Given the description of an element on the screen output the (x, y) to click on. 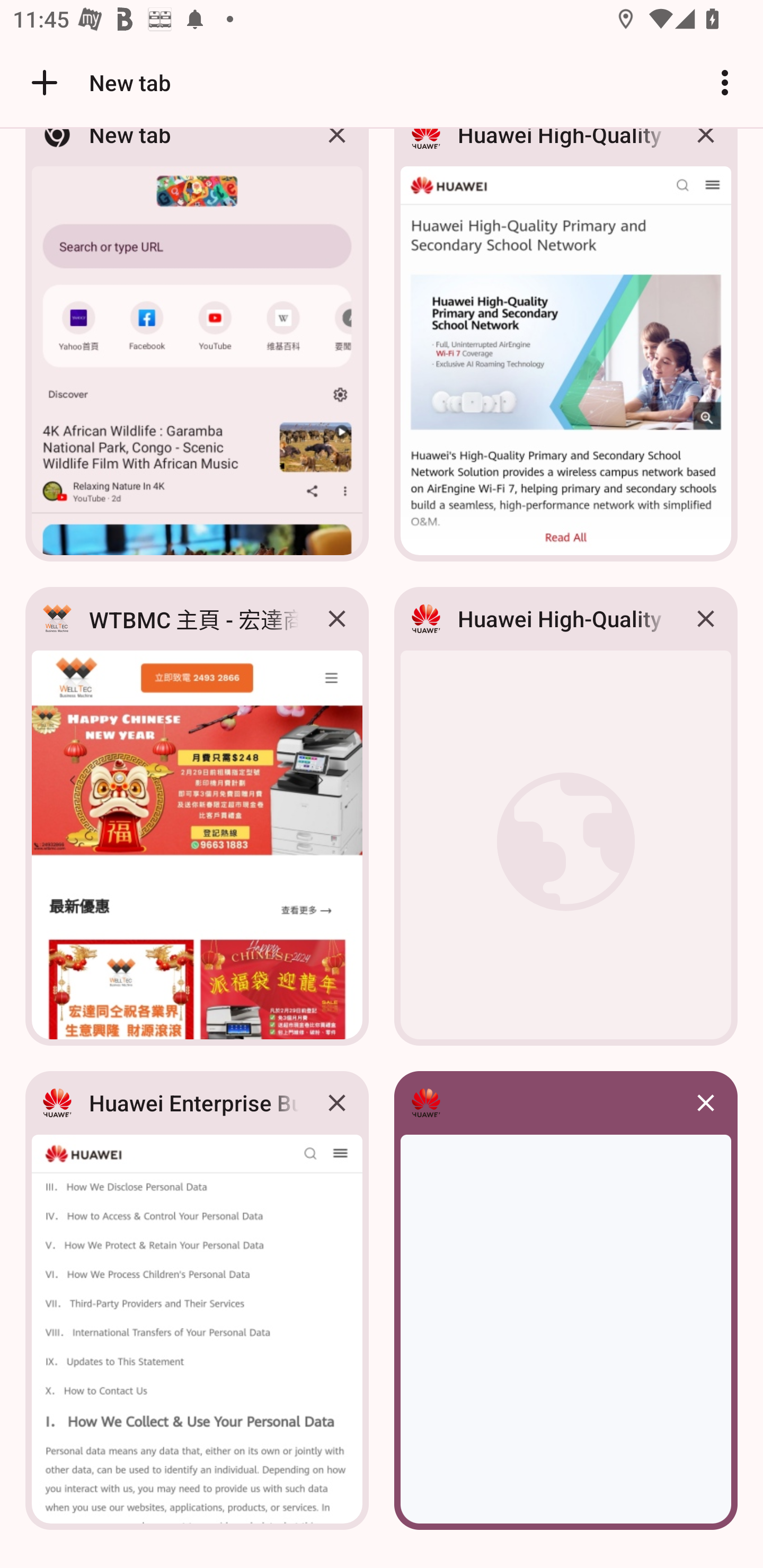
Open the home page (38, 82)
New tab (98, 82)
Customize and control Google Chrome (724, 82)
New tab New tab, tab Close New tab tab (196, 350)
Close New tab tab (337, 149)
, tab Close  tab (565, 1300)
Close  tab (705, 1102)
